Given the description of an element on the screen output the (x, y) to click on. 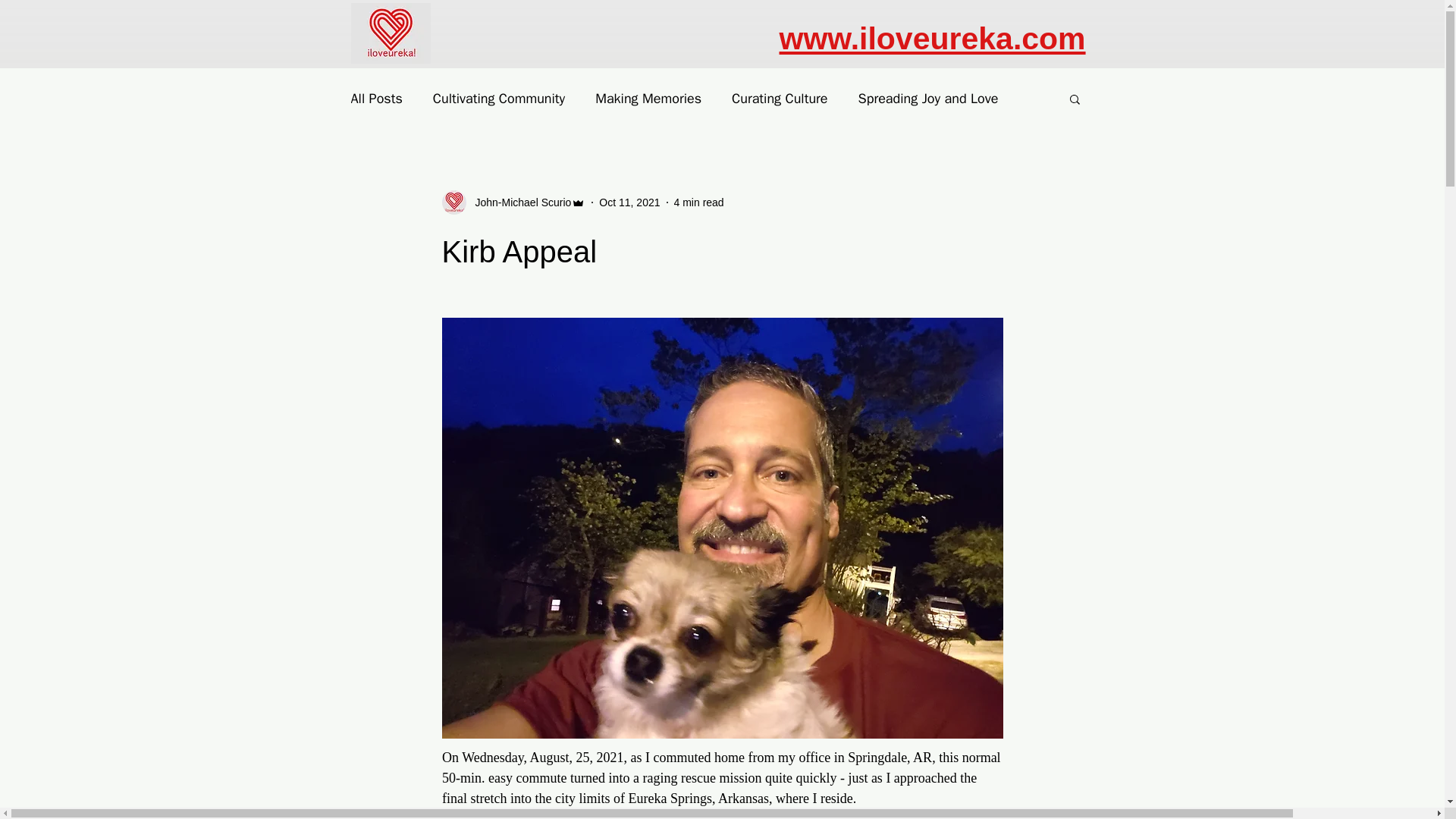
www.iloveureka.com (932, 38)
All Posts (375, 98)
Curating Culture (780, 98)
Spreading Joy and Love (928, 98)
Oct 11, 2021 (628, 201)
John-Michael Scurio (513, 202)
John-Michael Scurio (517, 201)
4 min read (698, 201)
Making Memories (648, 98)
Cultivating Community (498, 98)
